Given the description of an element on the screen output the (x, y) to click on. 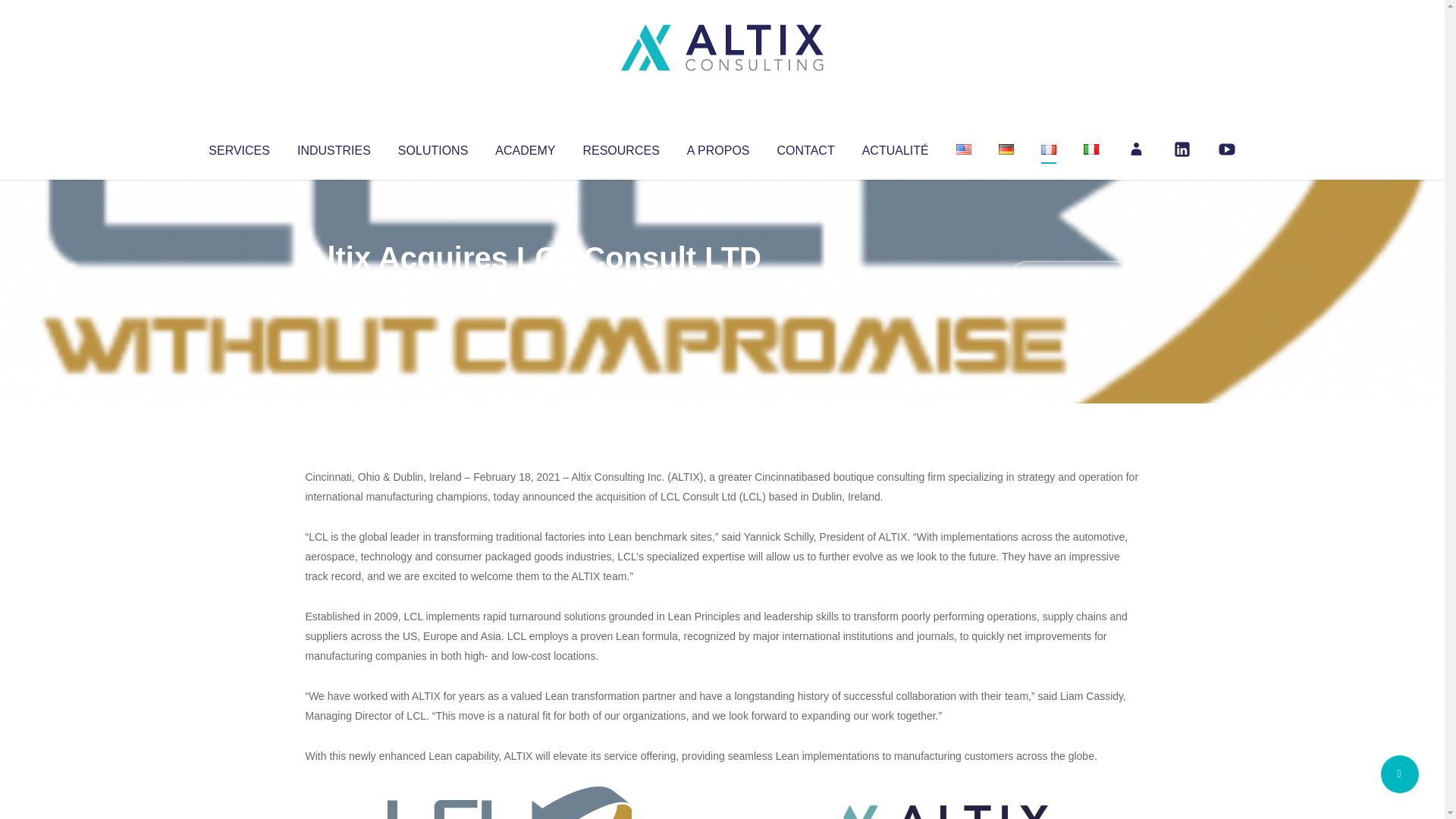
A PROPOS (718, 146)
SOLUTIONS (432, 146)
Uncategorized (530, 287)
SERVICES (238, 146)
No Comments (1073, 278)
Altix (333, 287)
INDUSTRIES (334, 146)
RESOURCES (620, 146)
Articles par Altix (333, 287)
ACADEMY (524, 146)
